Given the description of an element on the screen output the (x, y) to click on. 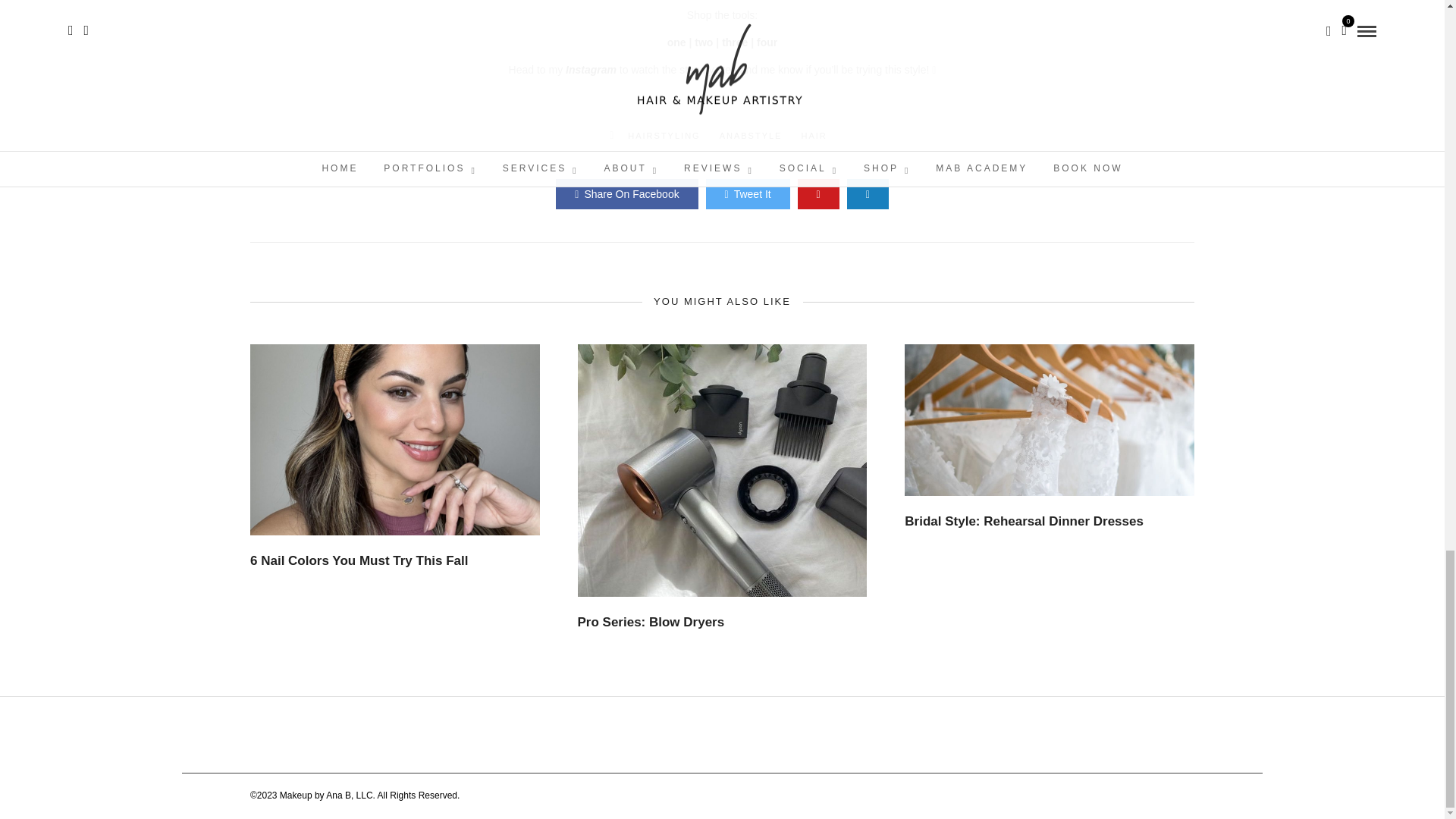
Bridal Style: Rehearsal Dinner Dresses (1023, 521)
Pro Series: Blow Dryers (651, 622)
6 Nail Colors You Must Try This Fall (358, 560)
